Given the description of an element on the screen output the (x, y) to click on. 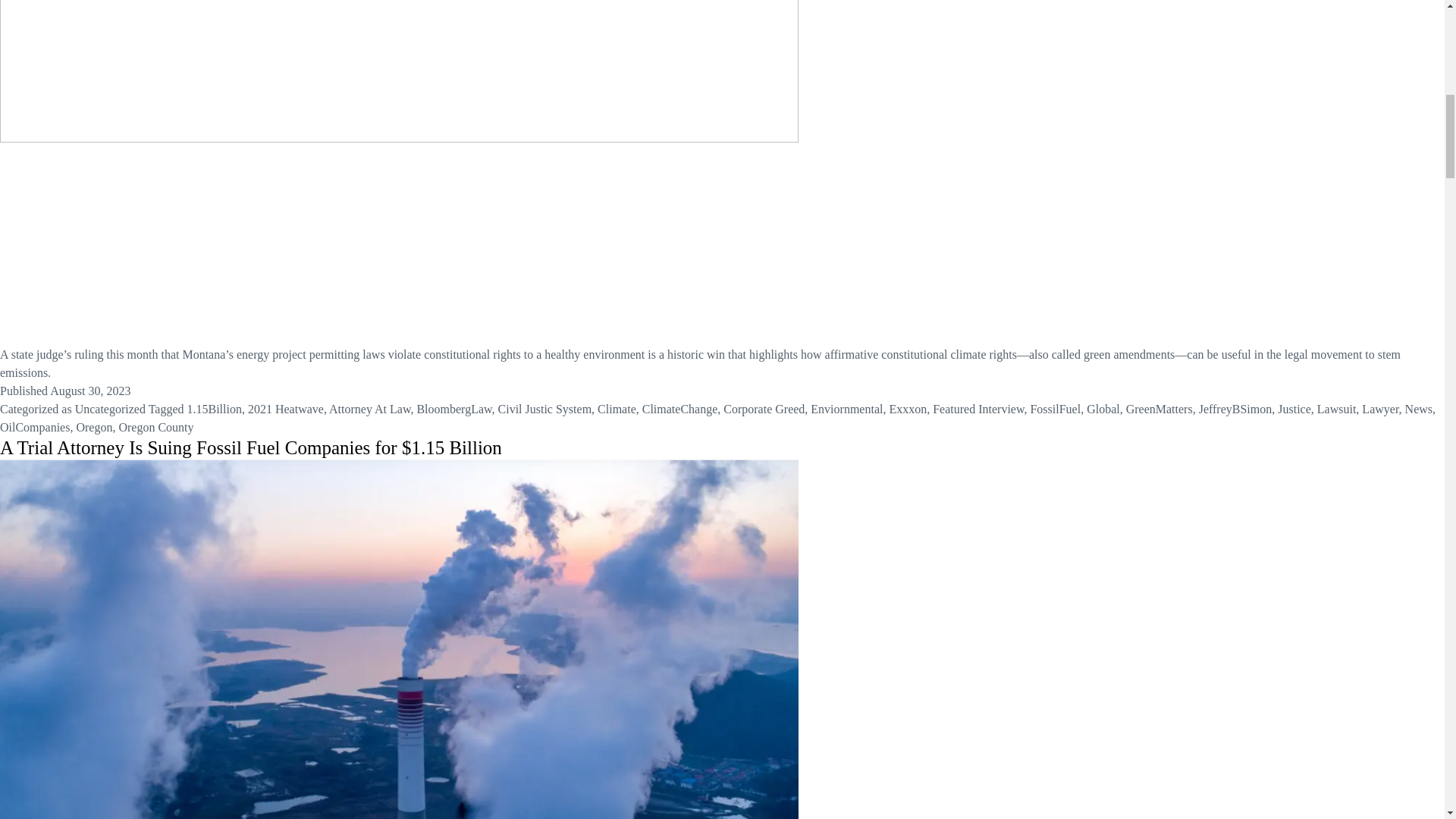
Uncategorized (110, 408)
